Given the description of an element on the screen output the (x, y) to click on. 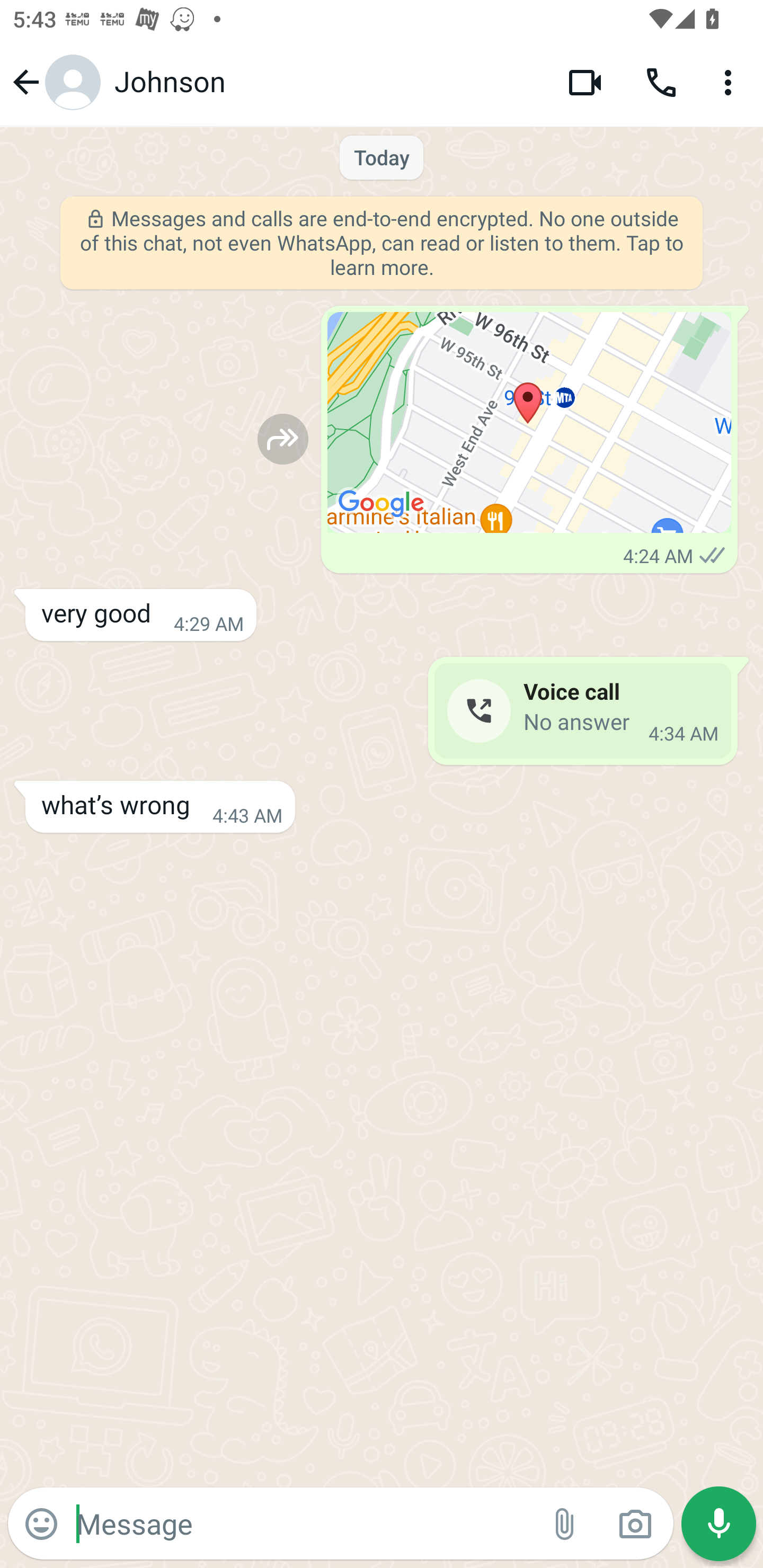
Johnson (327, 82)
Navigate up (54, 82)
Video call (585, 81)
Voice call (661, 81)
More options (731, 81)
Location (528, 422)
Forward to… (282, 438)
Emoji (41, 1523)
Attach (565, 1523)
Camera (634, 1523)
Message (303, 1523)
